Given the description of an element on the screen output the (x, y) to click on. 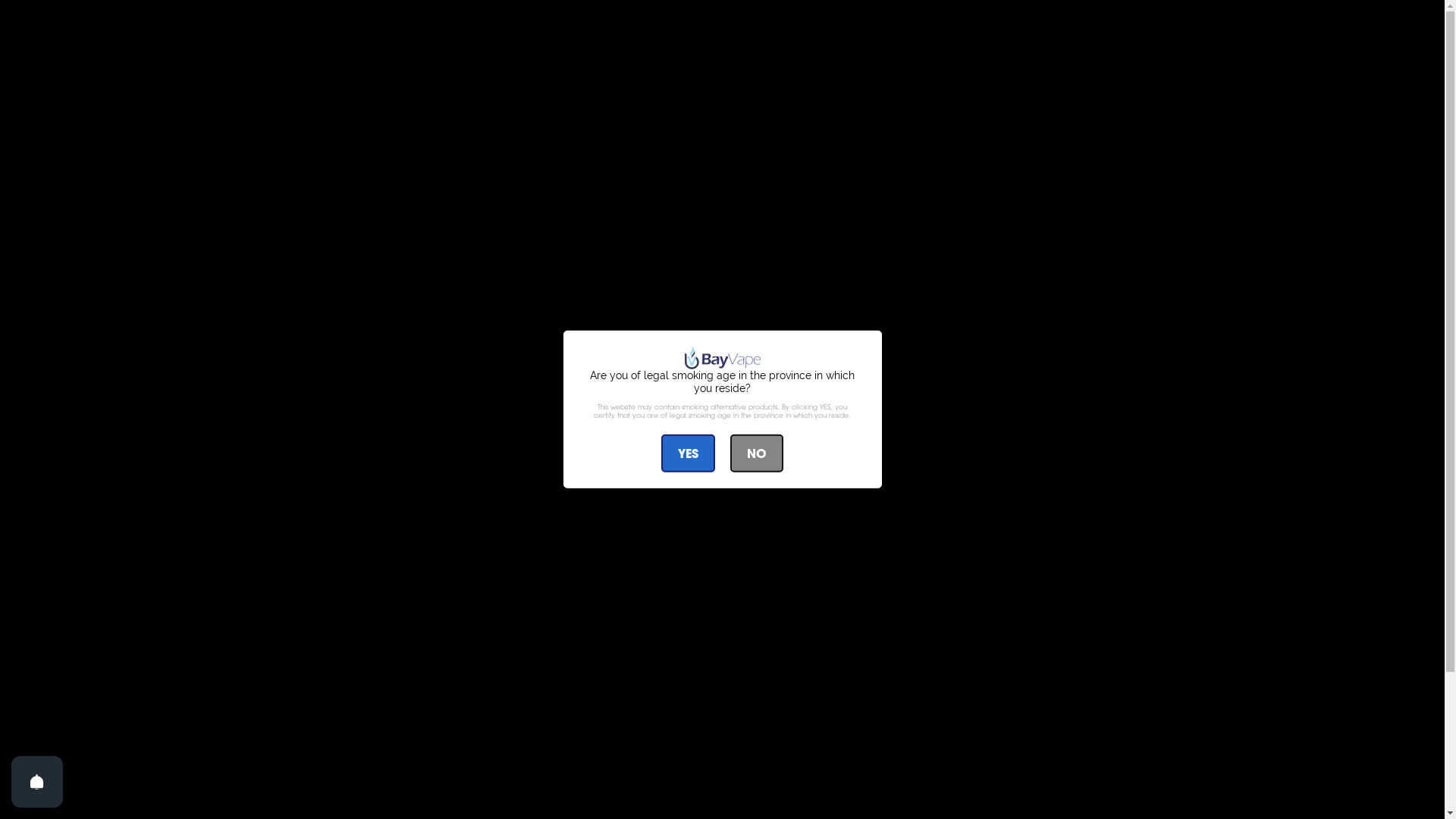
DISPOSABLE Element type: text (785, 274)
PODS Element type: text (696, 274)
NEW TO VAPING? Element type: text (365, 604)
Home Element type: text (306, 324)
Warranty & Returns Element type: text (789, 792)
Quebec customers, please click here. Element type: text (722, 207)
HERBAL Element type: text (878, 274)
New to Vaping Element type: text (777, 722)
Shipping & Handling Element type: text (793, 774)
NO Element type: text (756, 452)
Rewards Program Element type: text (785, 757)
View Cart Element type: text (539, 774)
Hardware Element type: text (540, 809)
ON SALE Element type: text (962, 274)
Subscribe Element type: text (1134, 793)
NEW Element type: text (440, 274)
E-Liquids Element type: text (536, 792)
REVIEW & REWARD Element type: text (810, 604)
here Element type: text (405, 468)
My Account Element type: text (547, 757)
REWARD PROGRAM - 2% CASH BACK Element type: text (588, 611)
YES Element type: text (688, 452)
Vaping Glossary Element type: text (781, 739)
Home Element type: text (528, 722)
HARDWARE Element type: text (610, 274)
Reward Element type: text (1386, 784)
Search Element type: text (531, 739)
E-LIQUIDS Element type: text (511, 274)
FAST SHIPPING Element type: text (1032, 604)
Privacy Policy Element type: text (773, 809)
